Given the description of an element on the screen output the (x, y) to click on. 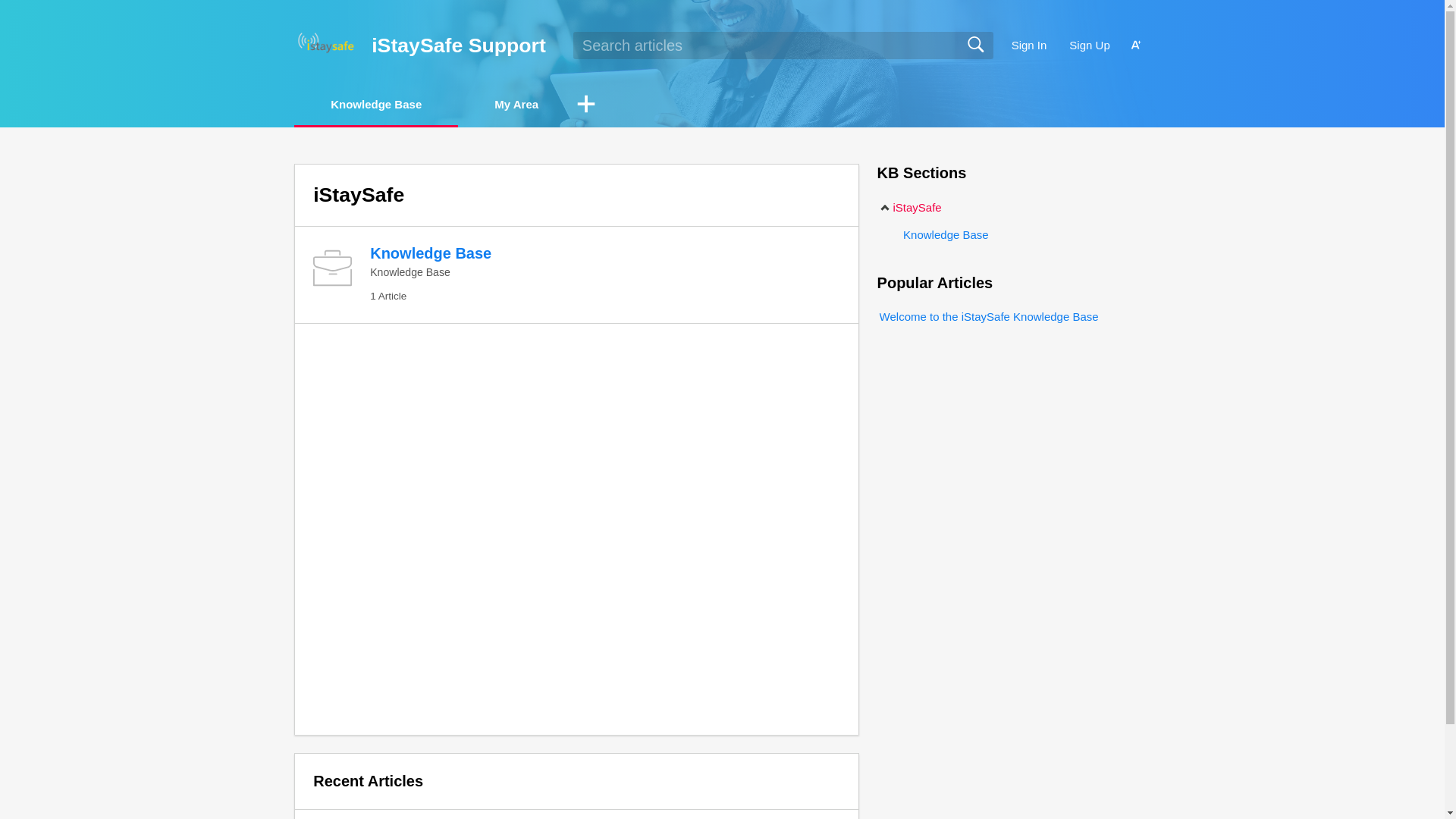
iStaySafe Element type: text (909, 207)
Sign Up Element type: text (1089, 45)
Search Element type: hover (975, 44)
Knowledge Base
Knowledge Base
1 Article Element type: text (575, 274)
My Area Element type: text (516, 103)
Knowledge Base Element type: text (375, 103)
Welcome to the iStaySafe Knowledge Base Element type: text (987, 316)
Sign In Element type: text (1029, 45)
Knowledge Base Element type: text (942, 234)
